Given the description of an element on the screen output the (x, y) to click on. 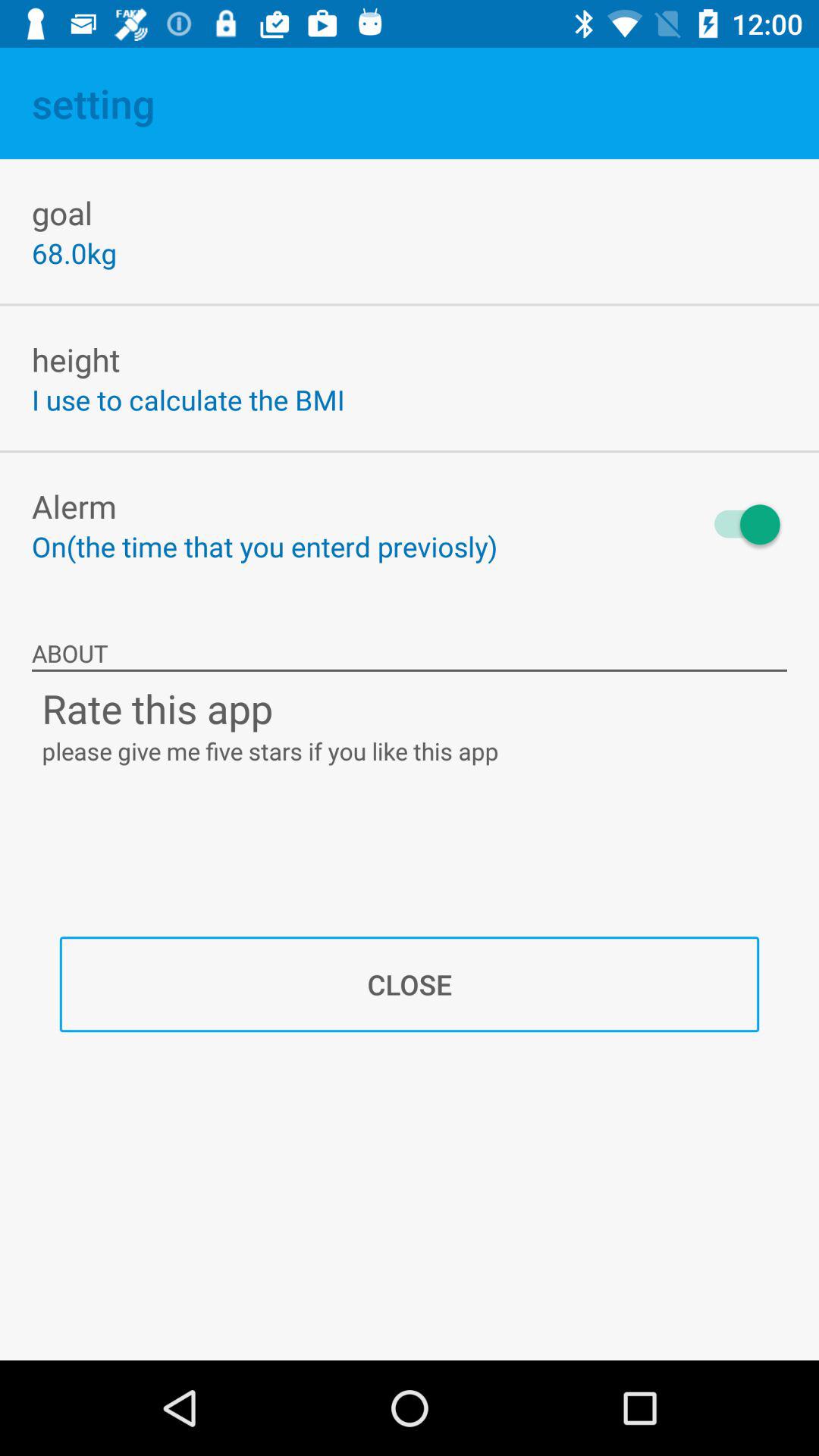
press the icon above about item (739, 524)
